Given the description of an element on the screen output the (x, y) to click on. 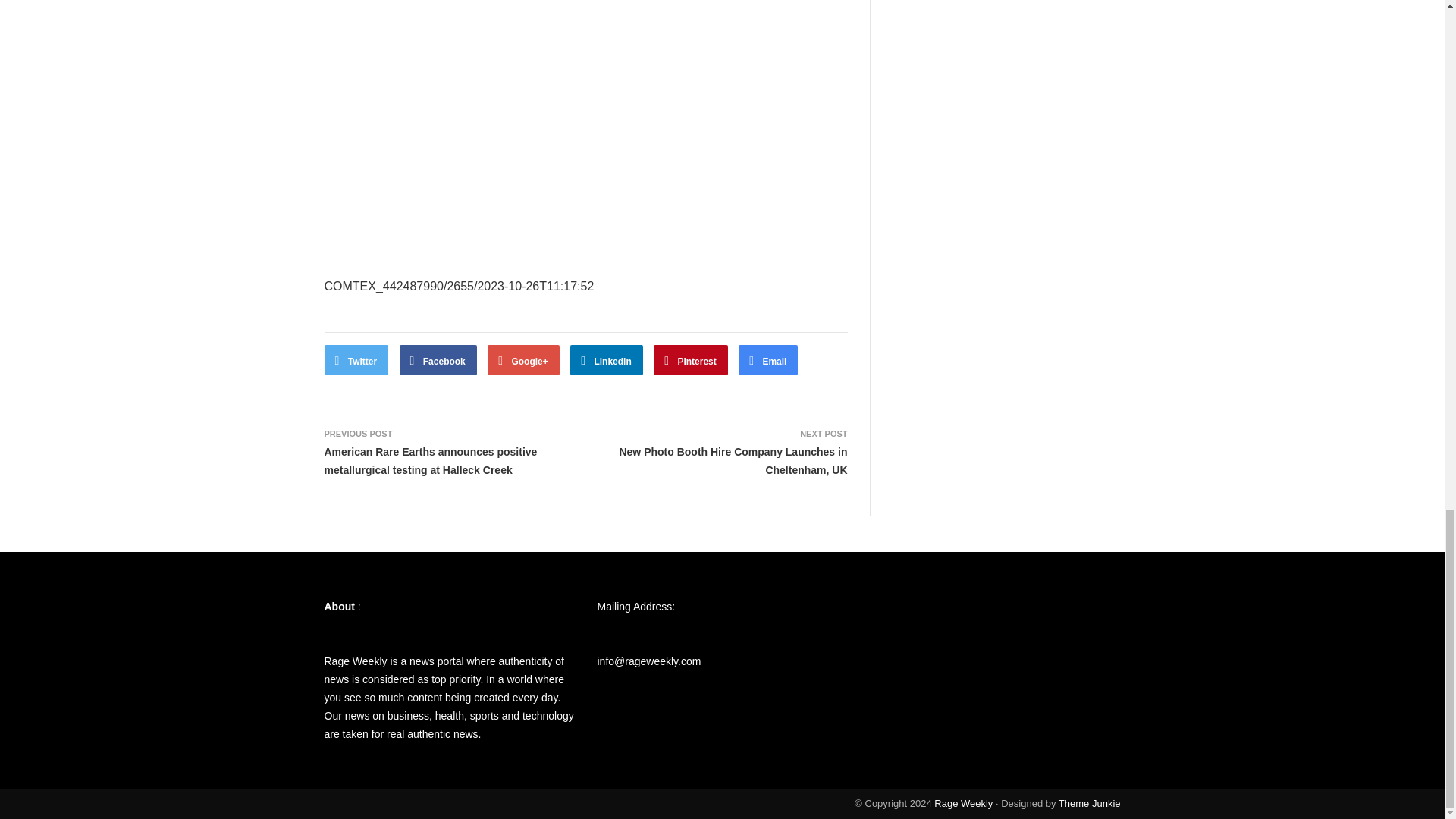
Email (767, 359)
Twitter (356, 359)
Pinterest (690, 359)
Linkedin (606, 359)
Facebook (437, 359)
